Given the description of an element on the screen output the (x, y) to click on. 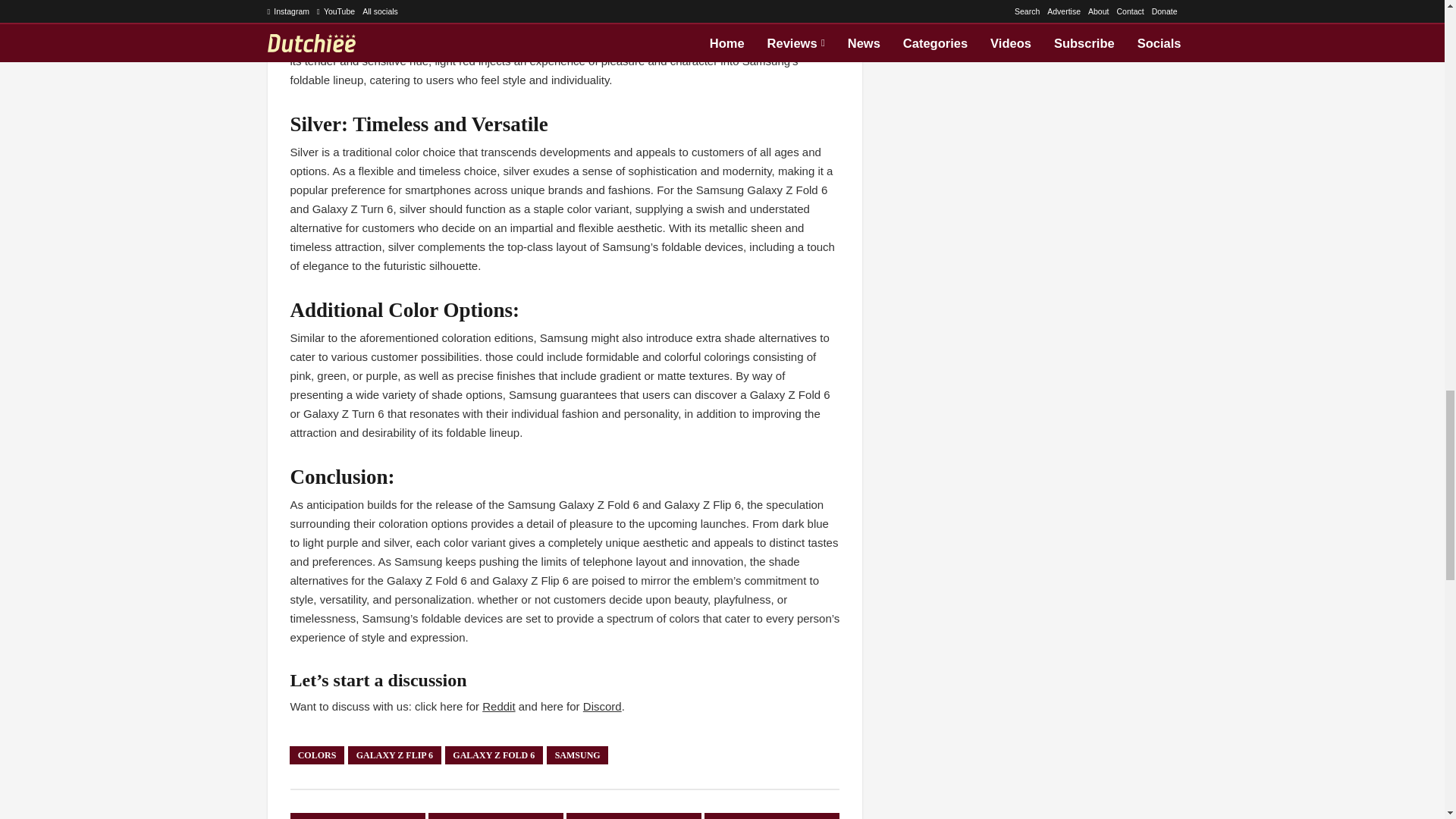
Pin this (633, 816)
Share this (772, 816)
Tweet this (495, 816)
Share this (357, 816)
